Given the description of an element on the screen output the (x, y) to click on. 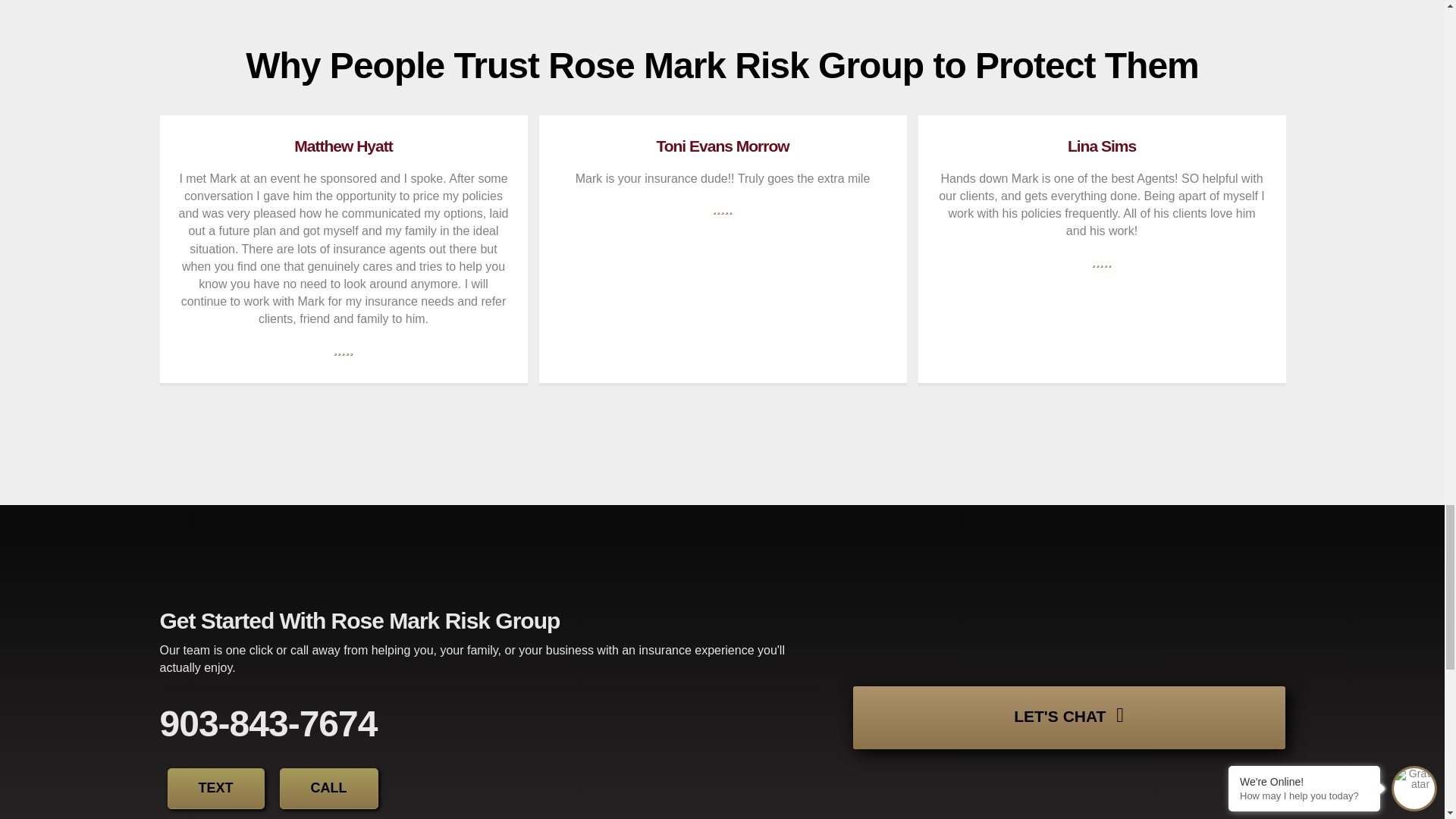
Lina Sims (1101, 145)
Toni Evans Morrow (722, 145)
Matthew Hyatt (342, 145)
